Given the description of an element on the screen output the (x, y) to click on. 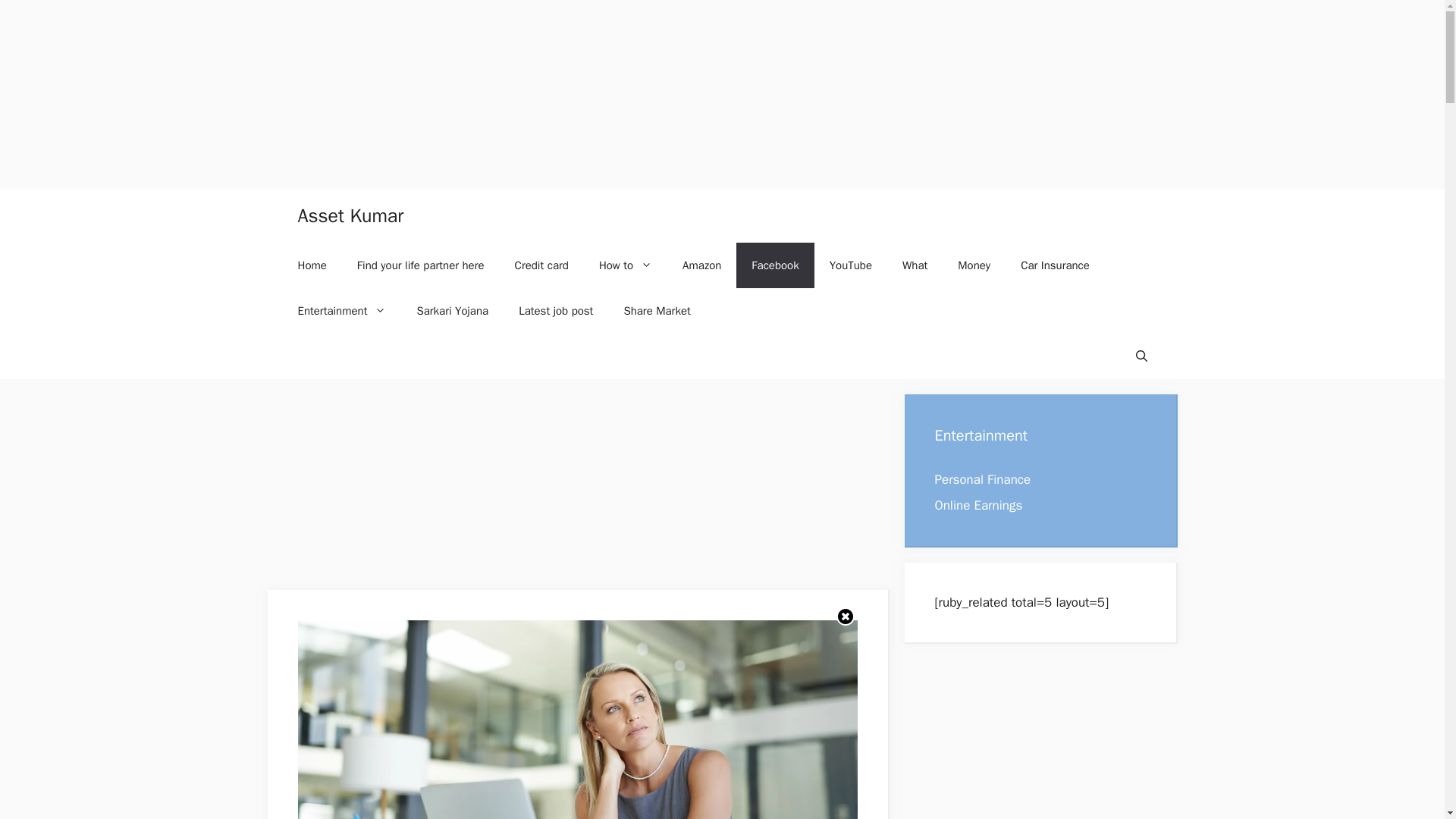
How to (624, 265)
Online Earnings (978, 505)
Sarkari Yojana (452, 310)
Home (311, 265)
Facebook (774, 265)
Money (974, 265)
Entertainment (341, 310)
Find your life partner here (420, 265)
What (914, 265)
Latest job post (555, 310)
Car Insurance (1055, 265)
Share Market (656, 310)
Personal Finance (982, 479)
Credit card (541, 265)
YouTube (849, 265)
